Given the description of an element on the screen output the (x, y) to click on. 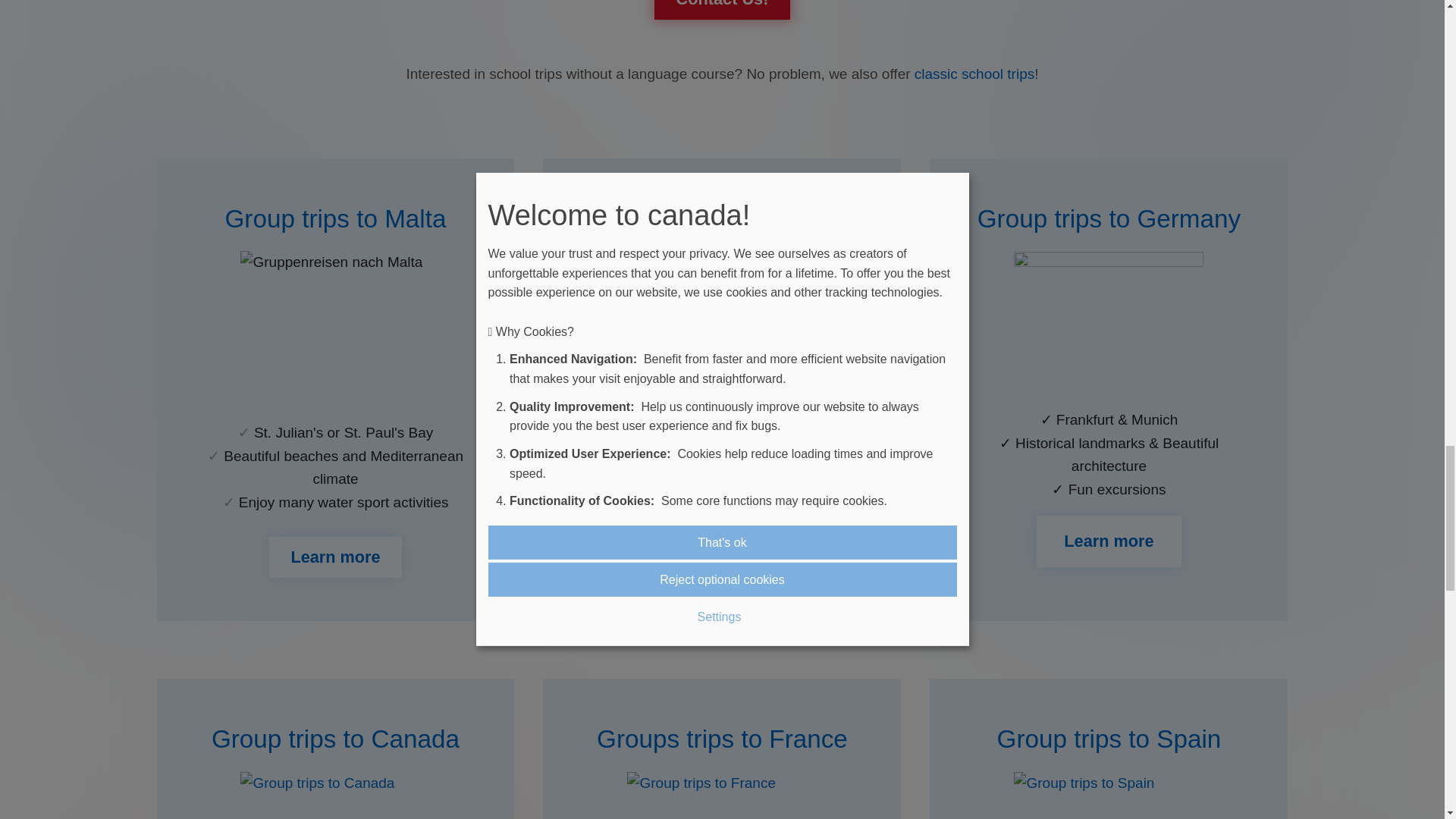
Learn more (721, 534)
Group trips to Germany (1108, 218)
English Courses in Malta (334, 218)
German Courses in Germany (1108, 218)
French Courses in France (721, 738)
Contact Us! (721, 9)
Group trips to Canada (334, 795)
School language trips (973, 73)
Group trips to Canada (335, 738)
English Courses in Malta (335, 557)
